Given the description of an element on the screen output the (x, y) to click on. 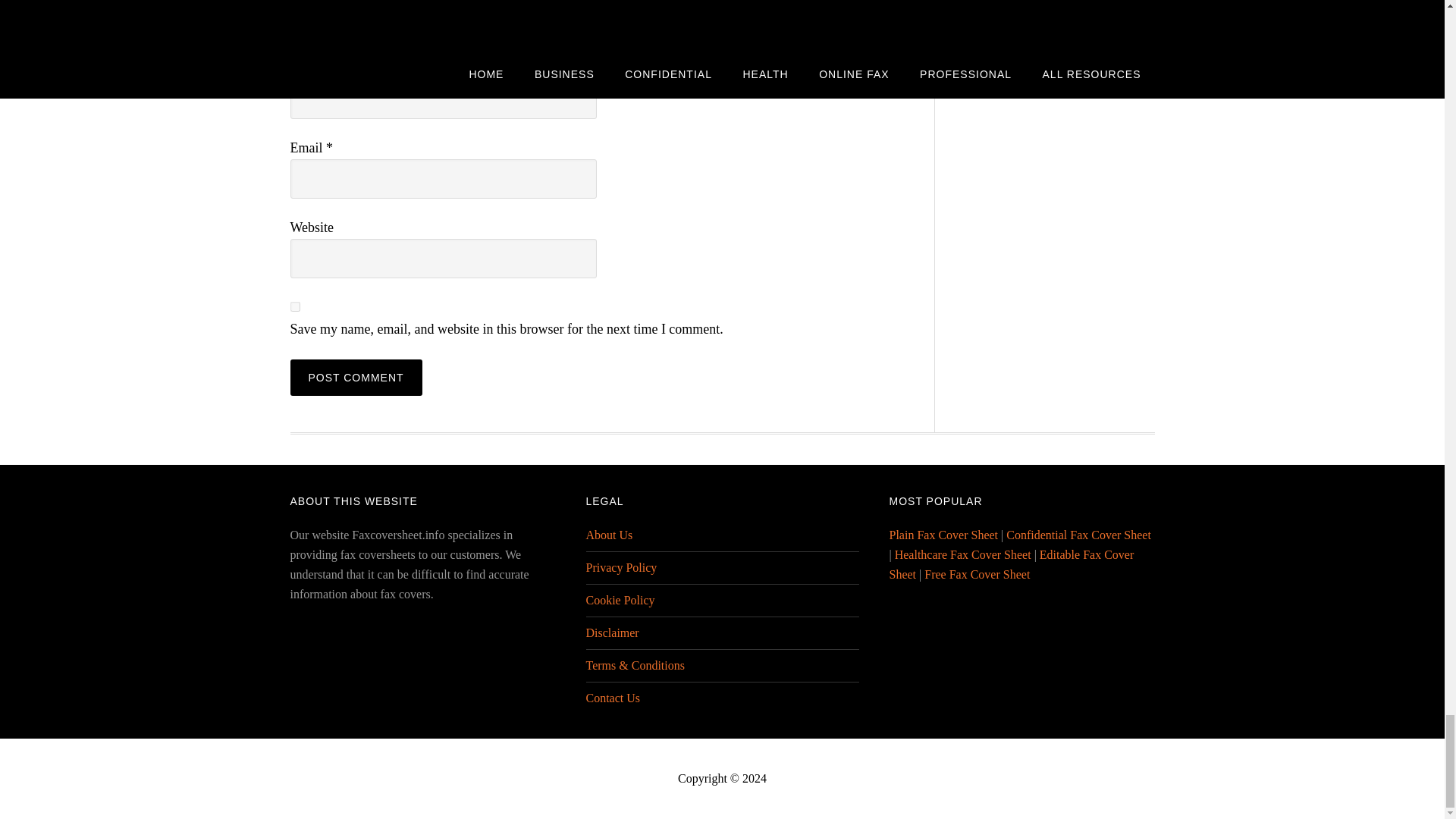
yes (294, 307)
Post Comment (355, 377)
